Given the description of an element on the screen output the (x, y) to click on. 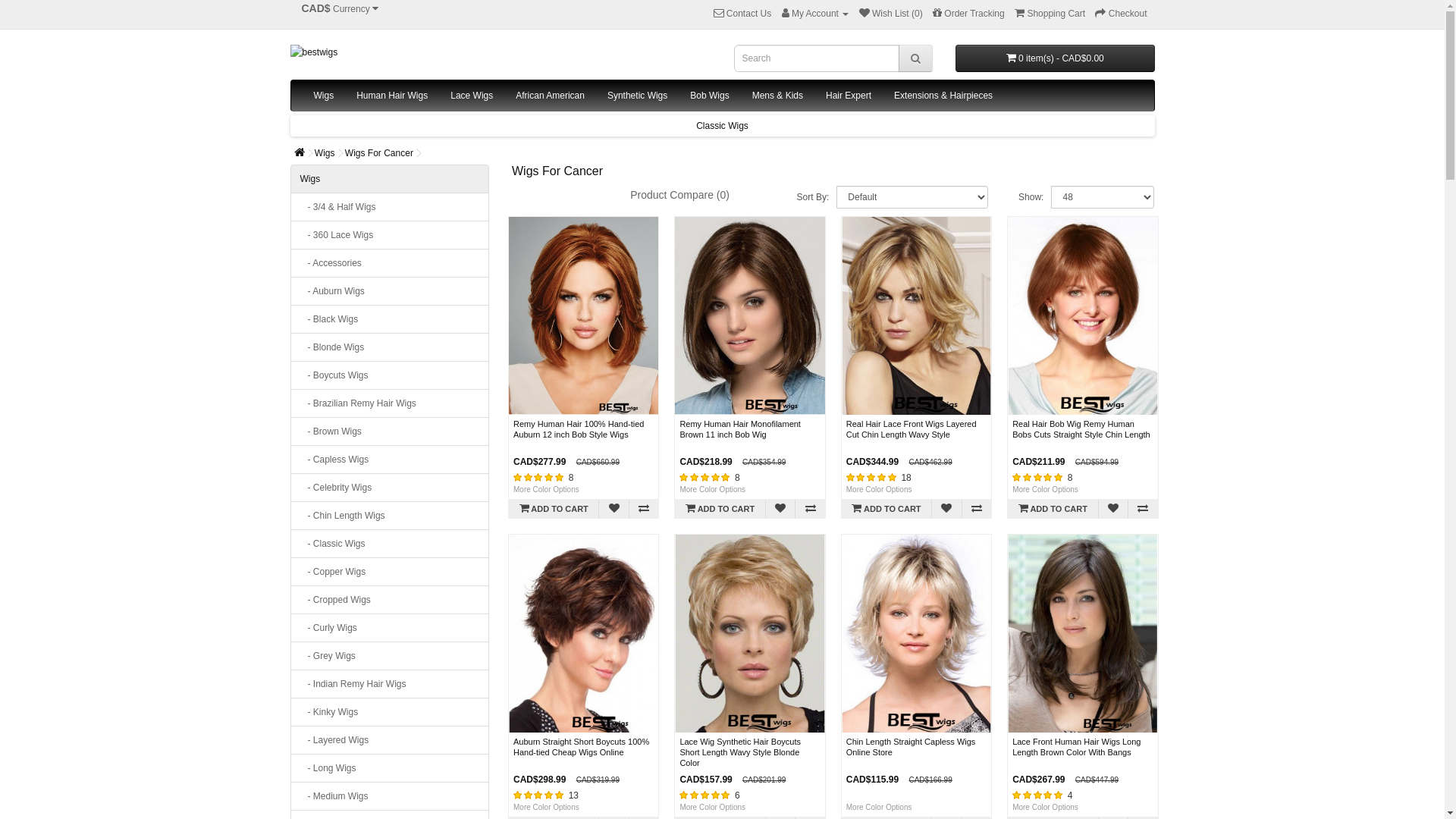
Product Compare (0) Element type: text (679, 194)
   - Grey Wigs Element type: text (389, 655)
   - Medium Wigs Element type: text (389, 795)
ADD TO CART Element type: text (553, 508)
Order Tracking Element type: text (968, 13)
   - Long Wigs Element type: text (389, 767)
   - Layered Wigs Element type: text (389, 739)
Chin Length Straight Capless Wigs Online Store Element type: hover (916, 633)
Remy Human Hair 100% Hand-tied Auburn 12 inch Bob Style Wigs Element type: text (578, 429)
Wigs Without Bangs Element type: text (721, 125)
CAD$ Currency  Element type: text (340, 9)
ADD TO CART Element type: text (886, 508)
bestwigs Element type: hover (499, 51)
   - Curly Wigs Element type: text (389, 627)
Hair Expert Element type: text (848, 95)
My Account Element type: text (815, 13)
   - Indian Remy Hair Wigs Element type: text (389, 683)
   - Boycuts Wigs Element type: text (389, 374)
   - Capless Wigs Element type: text (389, 459)
Bob Wigs Element type: text (709, 95)
Wigs For Cancer Element type: text (379, 152)
0 item(s) - CAD$0.00 Element type: text (1054, 58)
Lace Wigs Element type: text (471, 95)
   - Celebrity Wigs Element type: text (389, 487)
   - Black Wigs Element type: text (389, 318)
African American Element type: text (550, 95)
Remy Human Hair 100% Hand-tied Auburn 12 inch Bob Style Wigs Element type: hover (583, 315)
   - Classic Wigs Element type: text (389, 543)
Real Hair Lace Front Wigs Layered Cut Chin Length Wavy Style Element type: text (911, 429)
Wish List (0) Element type: text (890, 13)
Contact Us Element type: text (742, 13)
Chin Length Straight Capless Wigs Online Store Element type: text (910, 746)
ADD TO CART Element type: text (719, 508)
Wigs Element type: text (389, 178)
Wigs Element type: text (323, 95)
Human Hair Wigs Element type: text (392, 95)
   - Brazilian Remy Hair Wigs Element type: text (389, 403)
   - 360 Lace Wigs Element type: text (389, 234)
Shopping Cart Element type: text (1049, 13)
Remy Human Hair Monofilament Brown 11 inch Bob Wig Element type: text (739, 429)
   - Blonde Wigs Element type: text (389, 346)
   - Brown Wigs Element type: text (389, 431)
   - Kinky Wigs Element type: text (389, 711)
   - Copper Wigs Element type: text (389, 571)
   - Accessories Element type: text (389, 262)
Remy Human Hair Monofilament Brown 11 inch Bob Wig Element type: hover (749, 315)
Real Hair Lace Front Wigs Layered Cut Chin Length Wavy Style Element type: hover (916, 315)
   - Chin Length Wigs Element type: text (389, 515)
Checkout Element type: text (1120, 13)
   - Auburn Wigs Element type: text (389, 290)
ADD TO CART Element type: text (1052, 508)
Wigs Element type: text (324, 152)
   - 3/4 & Half Wigs Element type: text (389, 206)
Extensions & Hairpieces Element type: text (943, 95)
Mens & Kids Element type: text (777, 95)
   - Cropped Wigs Element type: text (389, 599)
Synthetic Wigs Element type: text (637, 95)
